Given the description of an element on the screen output the (x, y) to click on. 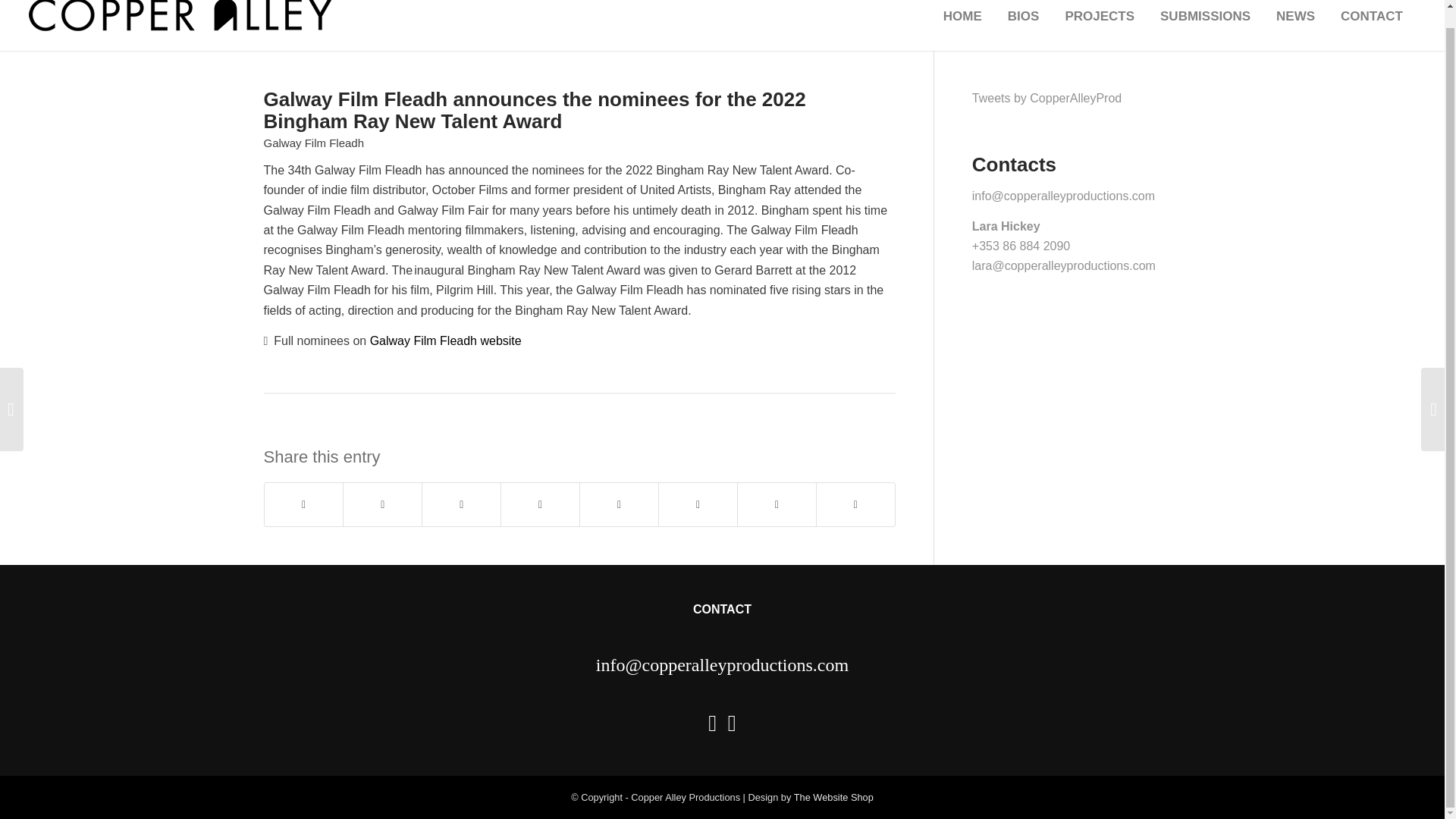
Tweets by CopperAlleyProd (1046, 97)
PROJECTS (1099, 25)
SUBMISSIONS (1205, 25)
BIOS (1023, 25)
The Website Shop (833, 797)
NEWS (1295, 25)
Galway Film Fleadh website (445, 340)
CONTACT (1371, 25)
HOME (962, 25)
